Given the description of an element on the screen output the (x, y) to click on. 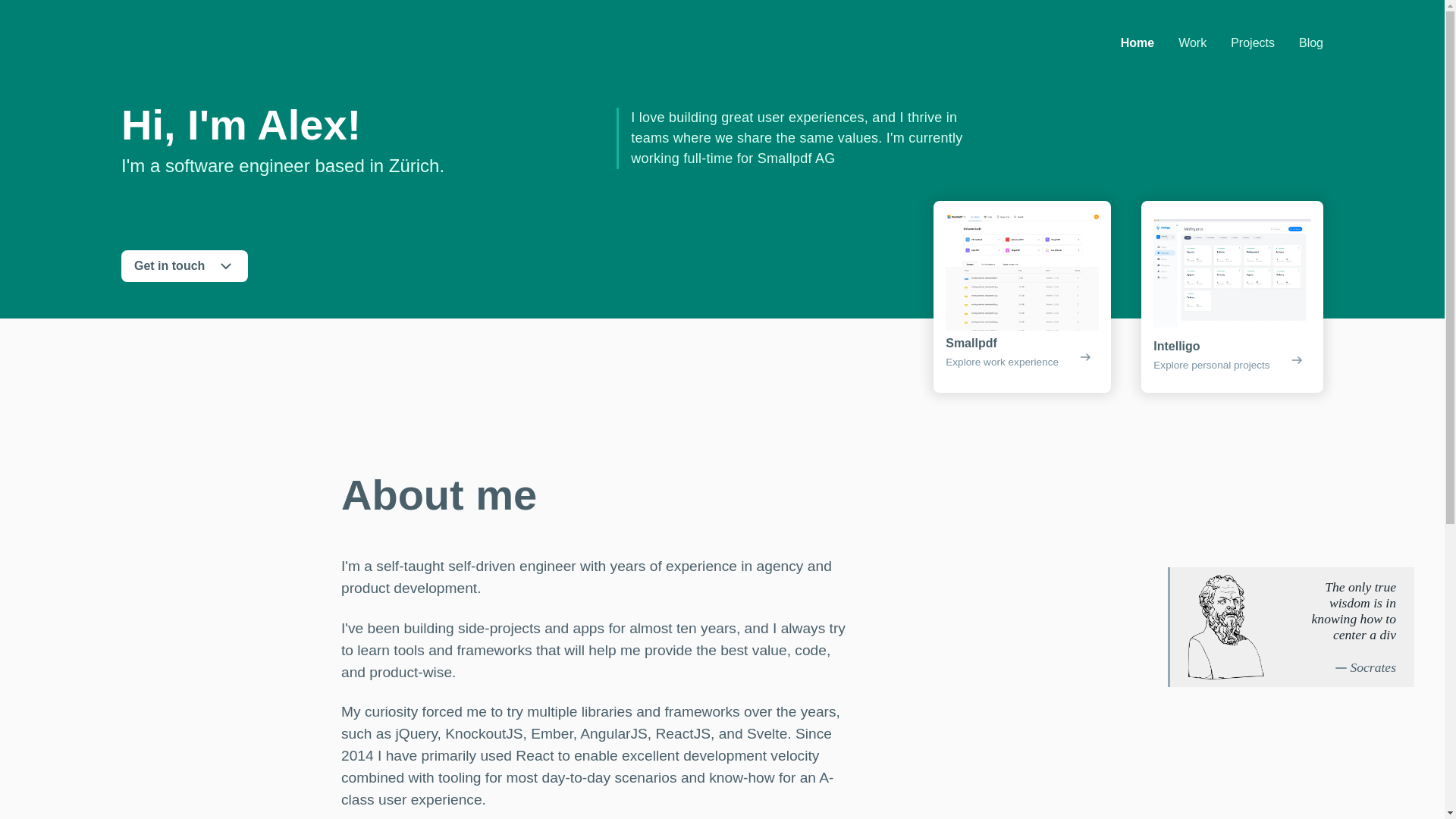
Projects (1252, 42)
Blog (1310, 42)
Home (1137, 42)
Get in touch (183, 265)
Work (1192, 42)
